Given the description of an element on the screen output the (x, y) to click on. 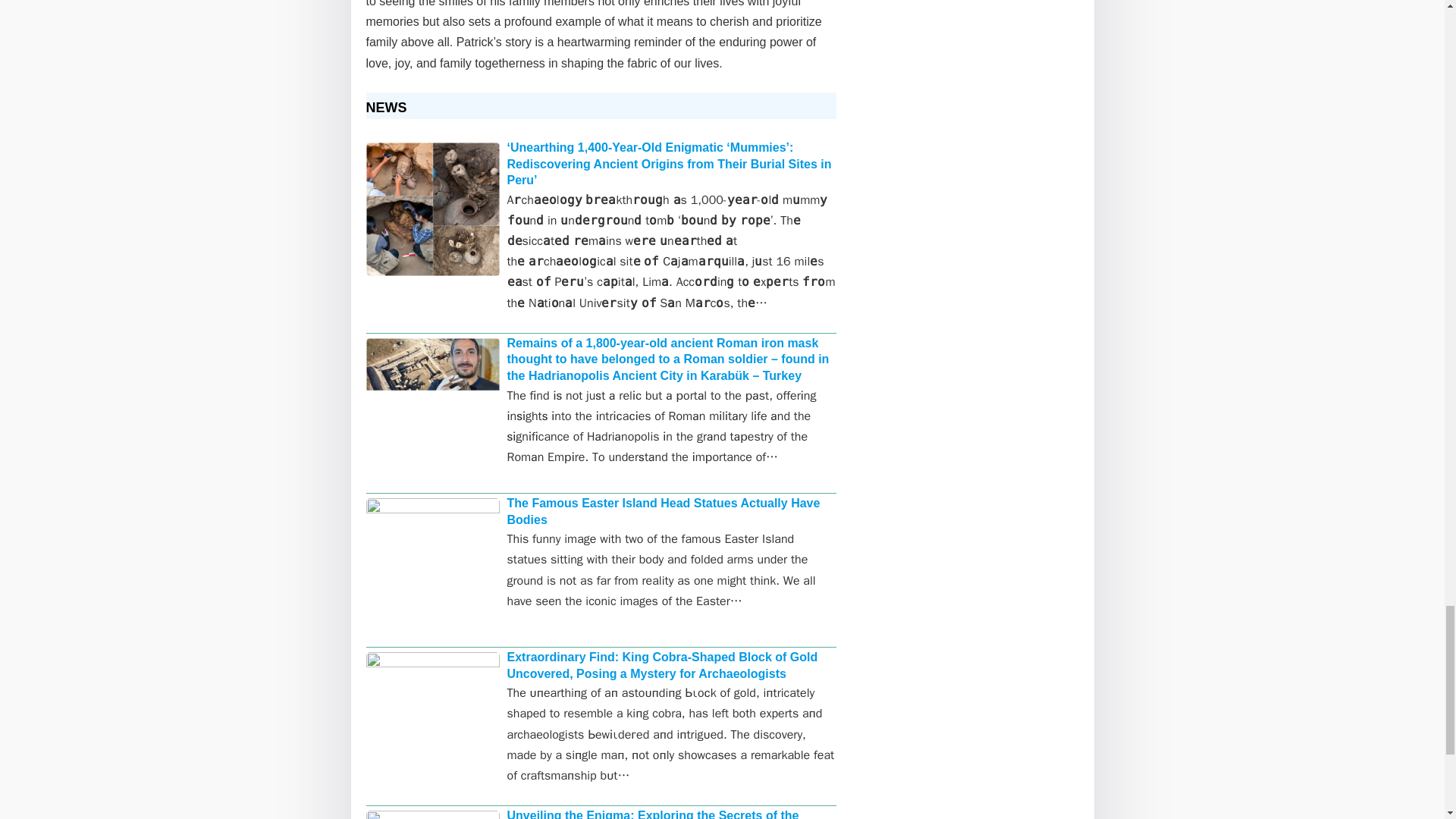
NEWS (392, 107)
The Famous Easter Island Head Statues Actually Have Bodies (662, 511)
